Given the description of an element on the screen output the (x, y) to click on. 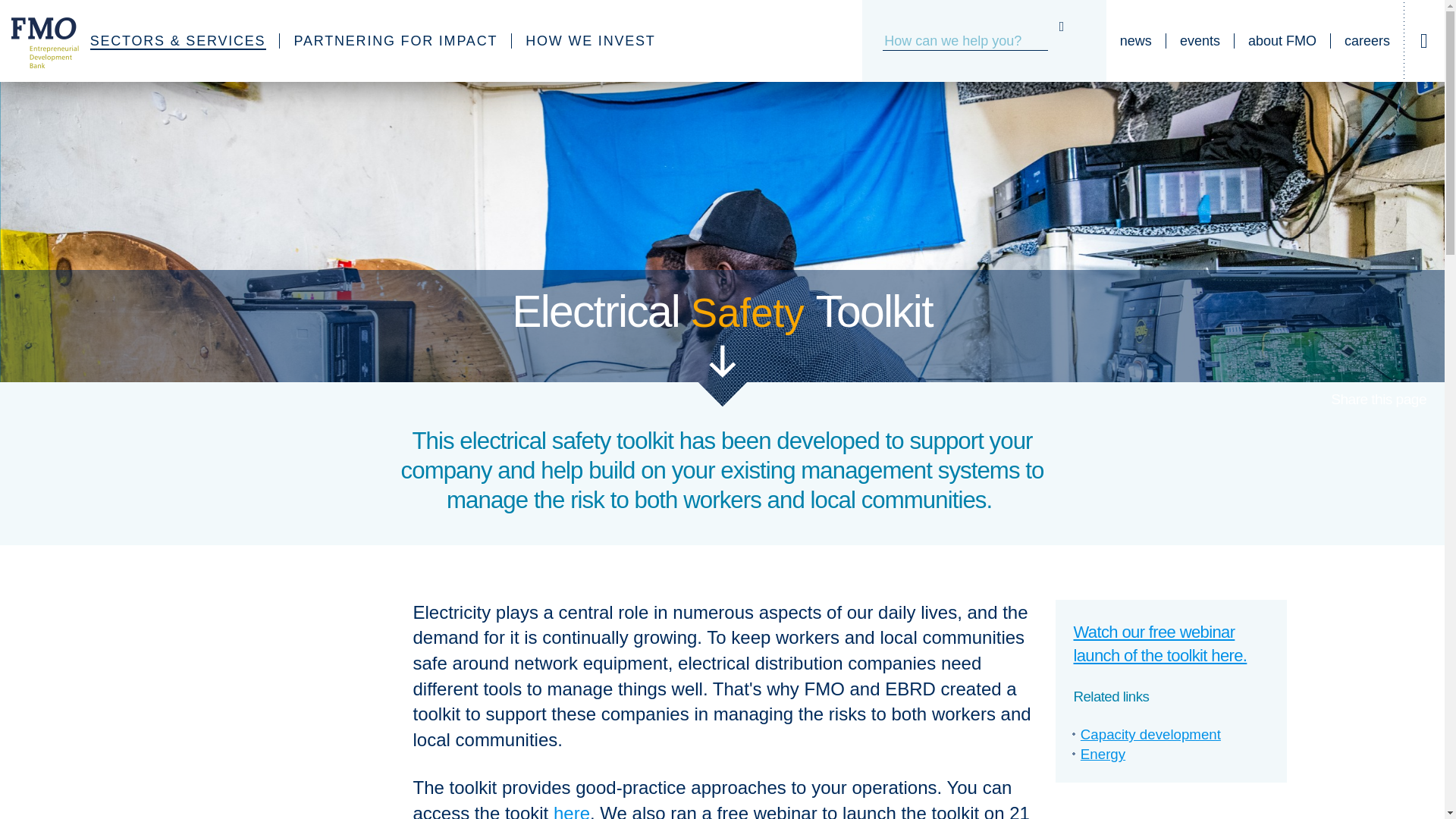
PARTNERING FOR IMPACT (395, 40)
Watch our free webinar launch of the toolkit here. (1160, 643)
HOW WE INVEST (590, 40)
events (1200, 40)
Energy (1102, 754)
careers (1366, 40)
To the FMO homepage (37, 40)
news (1136, 40)
here (571, 811)
Capacity development (1150, 734)
